Given the description of an element on the screen output the (x, y) to click on. 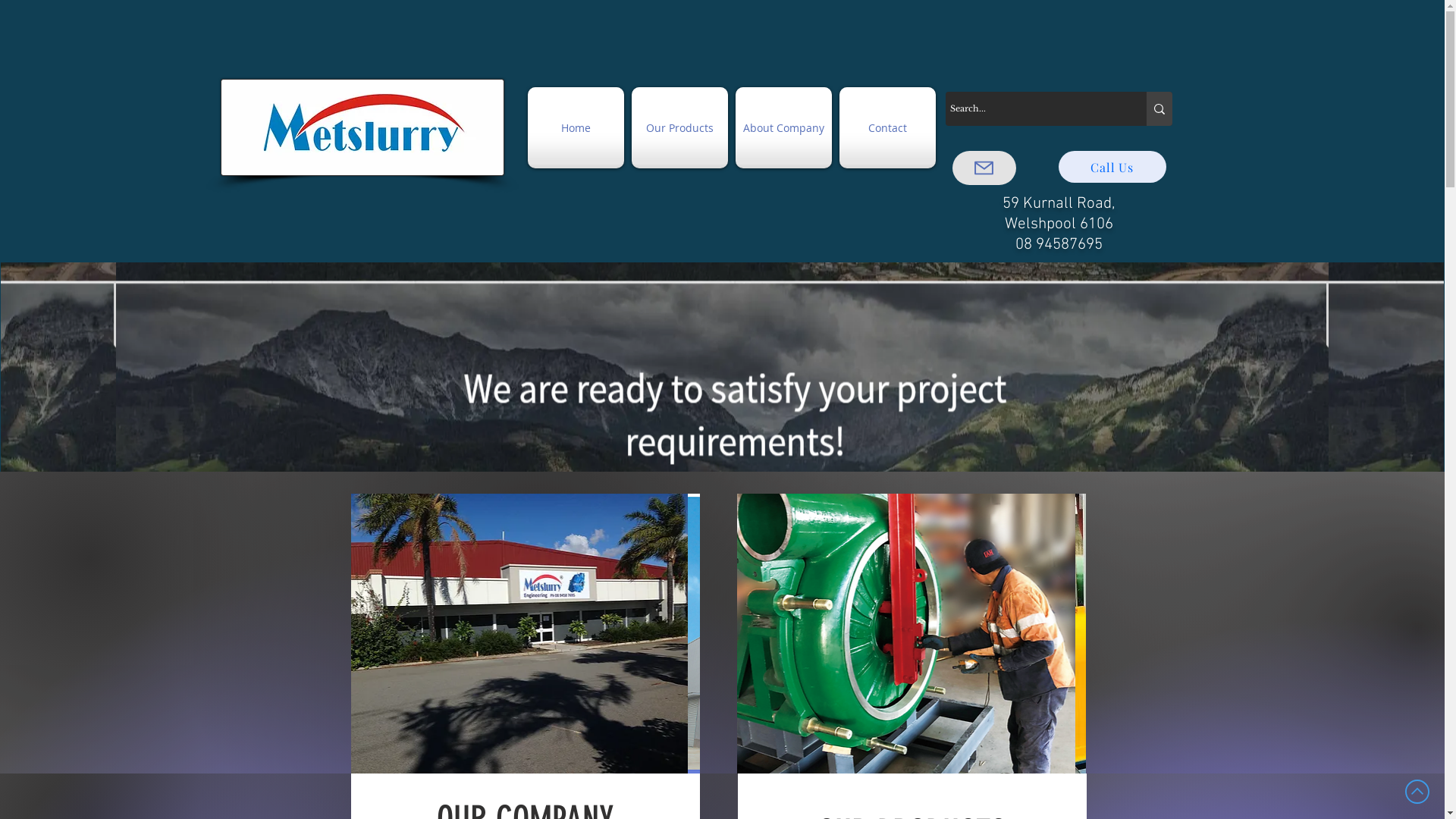
Contact Element type: text (887, 127)
Call Us Element type: text (1112, 166)
About Company Element type: text (783, 127)
Home Element type: text (575, 127)
Our Products Element type: text (679, 127)
